Given the description of an element on the screen output the (x, y) to click on. 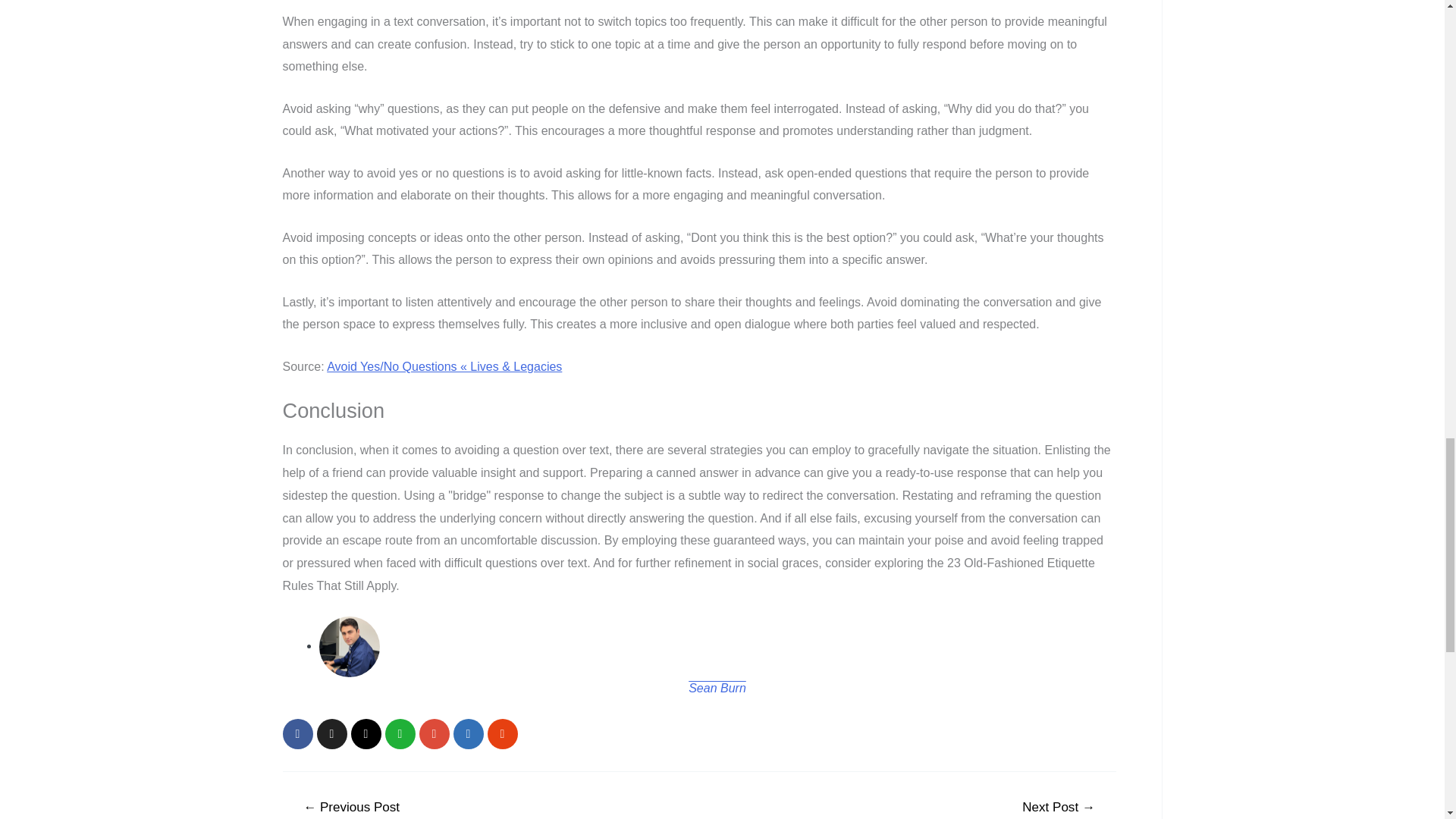
Sean Burn (716, 687)
Sean Burn (716, 687)
